Given the description of an element on the screen output the (x, y) to click on. 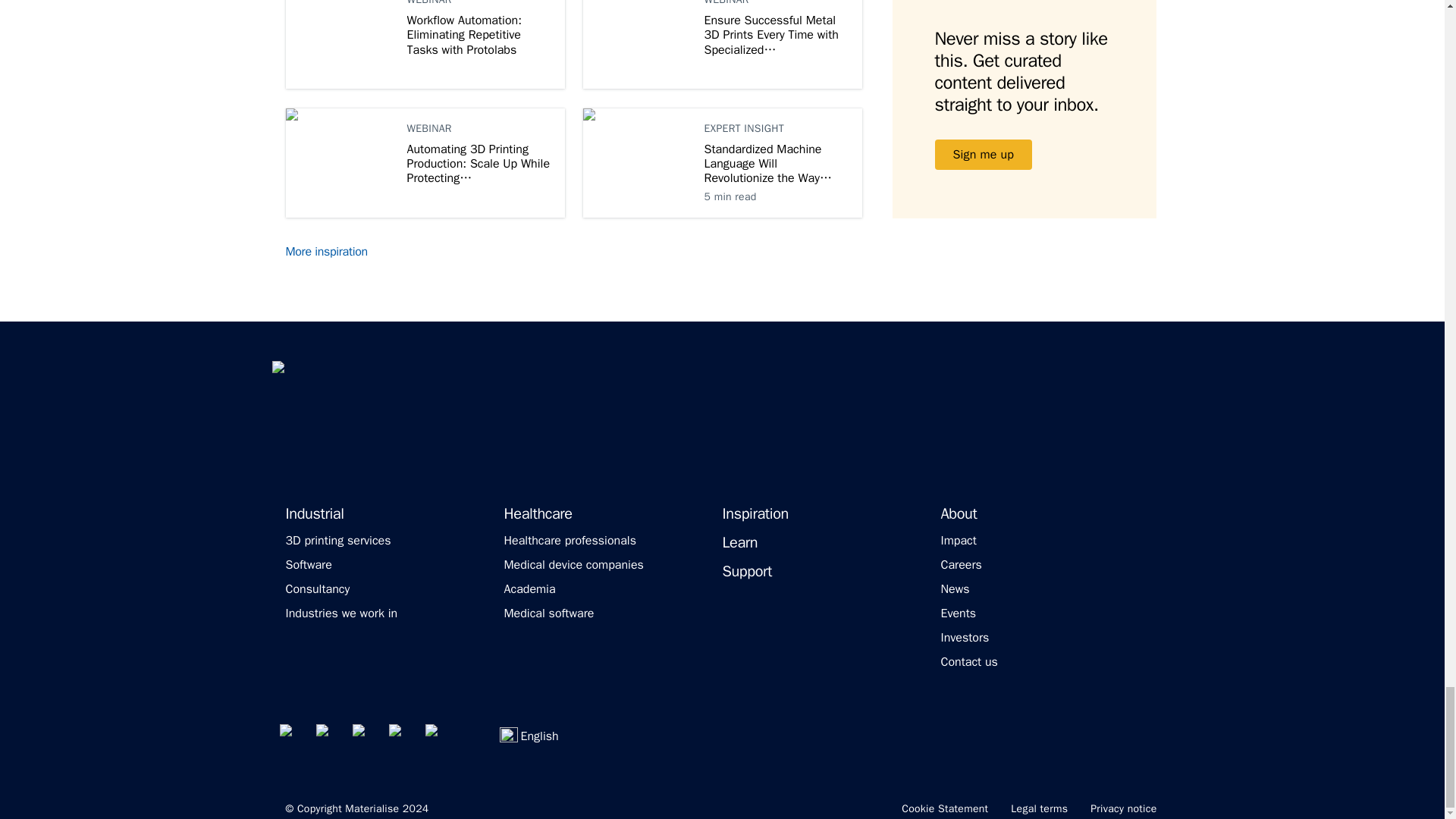
More inspiration (335, 251)
Software (308, 564)
Industrial (314, 514)
3D printing services (337, 540)
Consultancy (317, 589)
Sign me up (983, 154)
Industries we work in (341, 613)
